Given the description of an element on the screen output the (x, y) to click on. 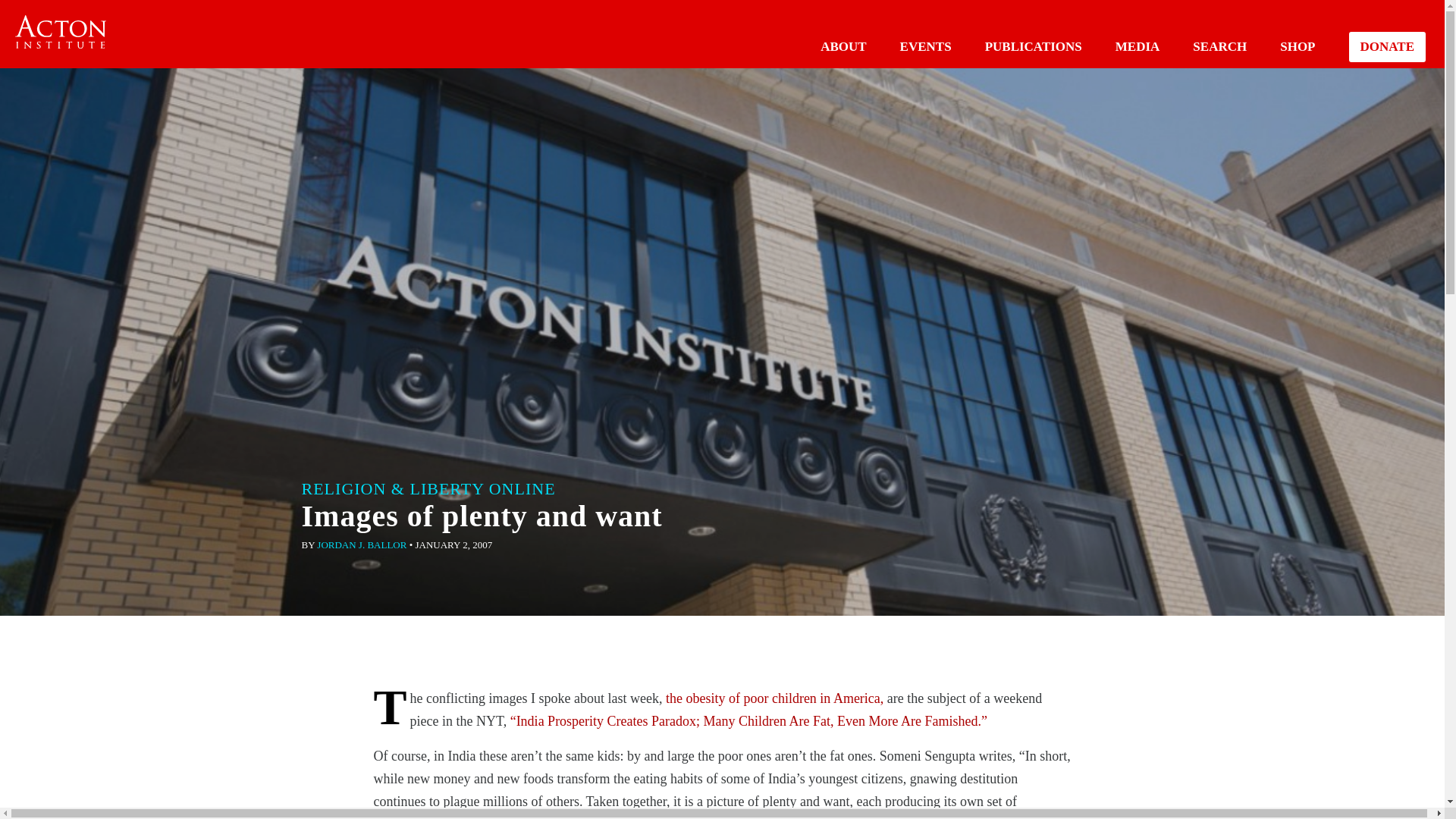
ABOUT (843, 46)
MEDIA (1137, 46)
the obesity of poor children in America, (774, 697)
EVENTS (925, 46)
PUBLICATIONS (1033, 46)
Posts by Jordan J. Ballor (361, 544)
DONATE (1387, 46)
SEARCH (1219, 46)
The Acton Institute (60, 31)
SHOP (1296, 46)
JORDAN J. BALLOR (361, 544)
